Given the description of an element on the screen output the (x, y) to click on. 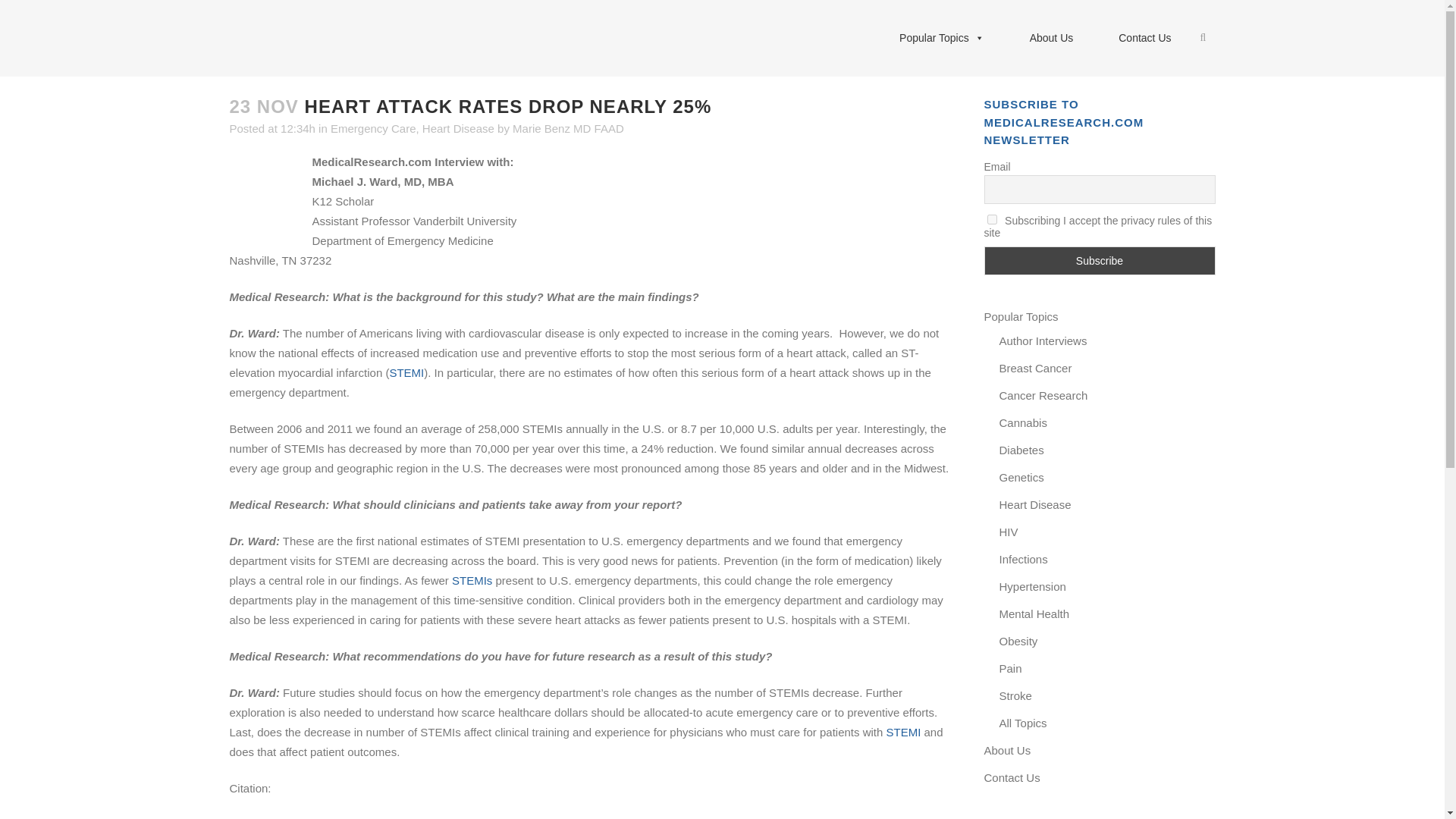
Popular Topics (941, 37)
About Us (1051, 37)
on (992, 219)
HbA1c Predicts LV Dysfunction in STEMI Heart Attack (405, 372)
Heart Attack Treated With PCI: Who Gets Acute Kidney Injury? (902, 731)
Contact Us (1144, 37)
Subscribe (1099, 260)
